Given the description of an element on the screen output the (x, y) to click on. 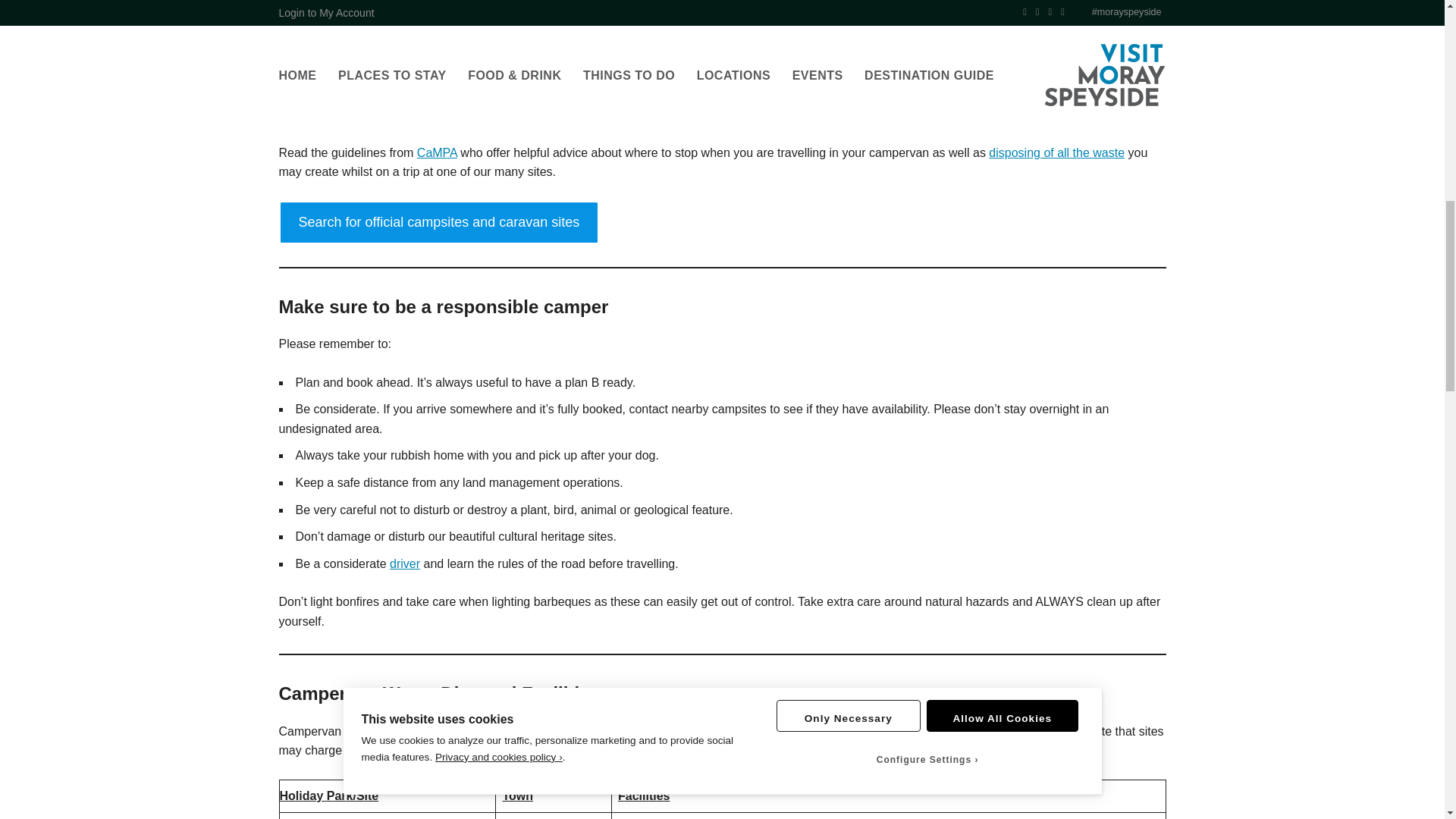
CaMPA (436, 152)
Scottish Outdoor Access Code (748, 93)
driver (405, 563)
Search for official campsites and caravan sites (439, 222)
disposing of all the waste (1056, 152)
